Given the description of an element on the screen output the (x, y) to click on. 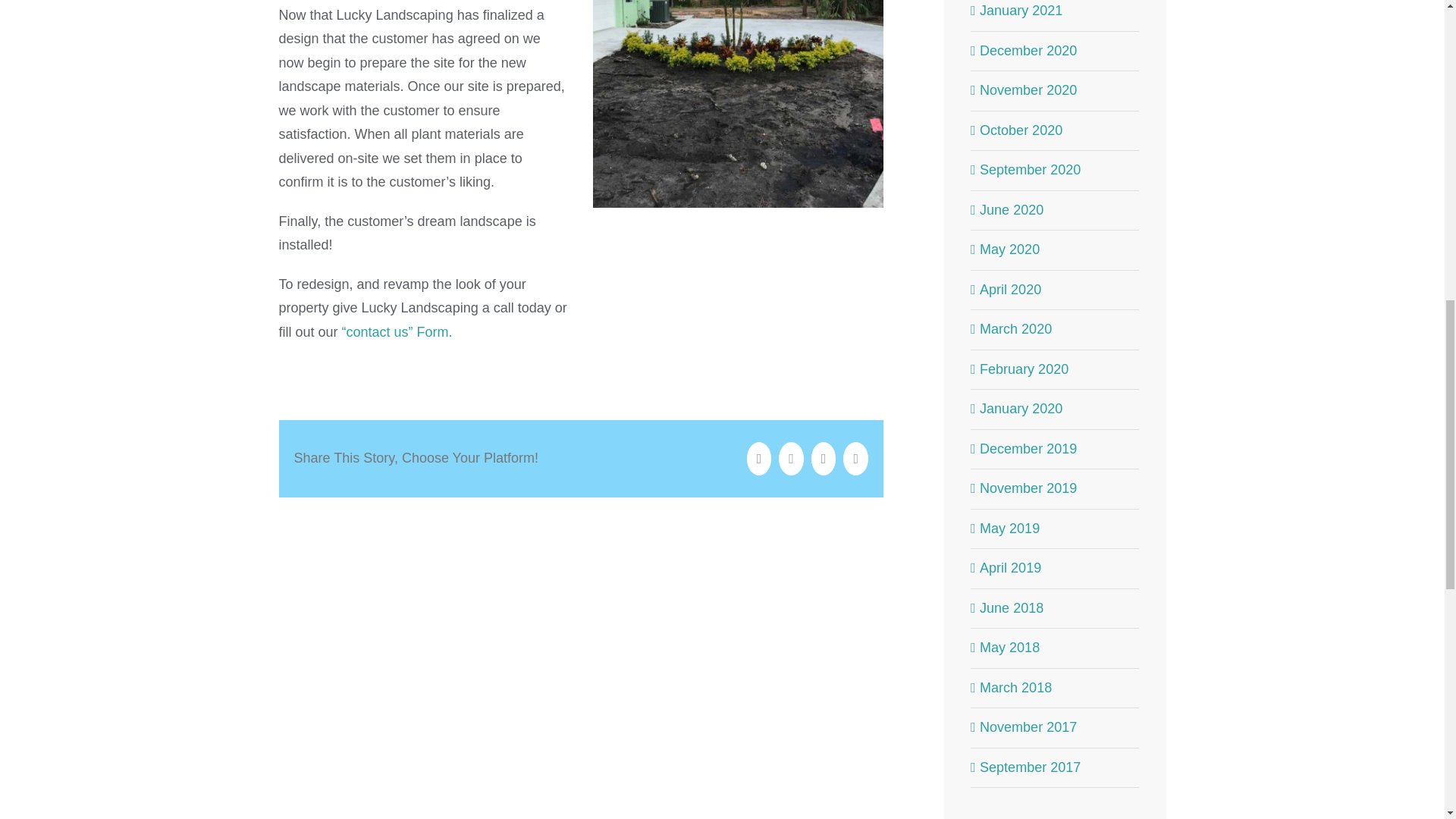
January 2021 (1020, 10)
December 2020 (1028, 50)
Gallery-19 (737, 104)
October 2020 (1020, 130)
November 2020 (1028, 89)
